Given the description of an element on the screen output the (x, y) to click on. 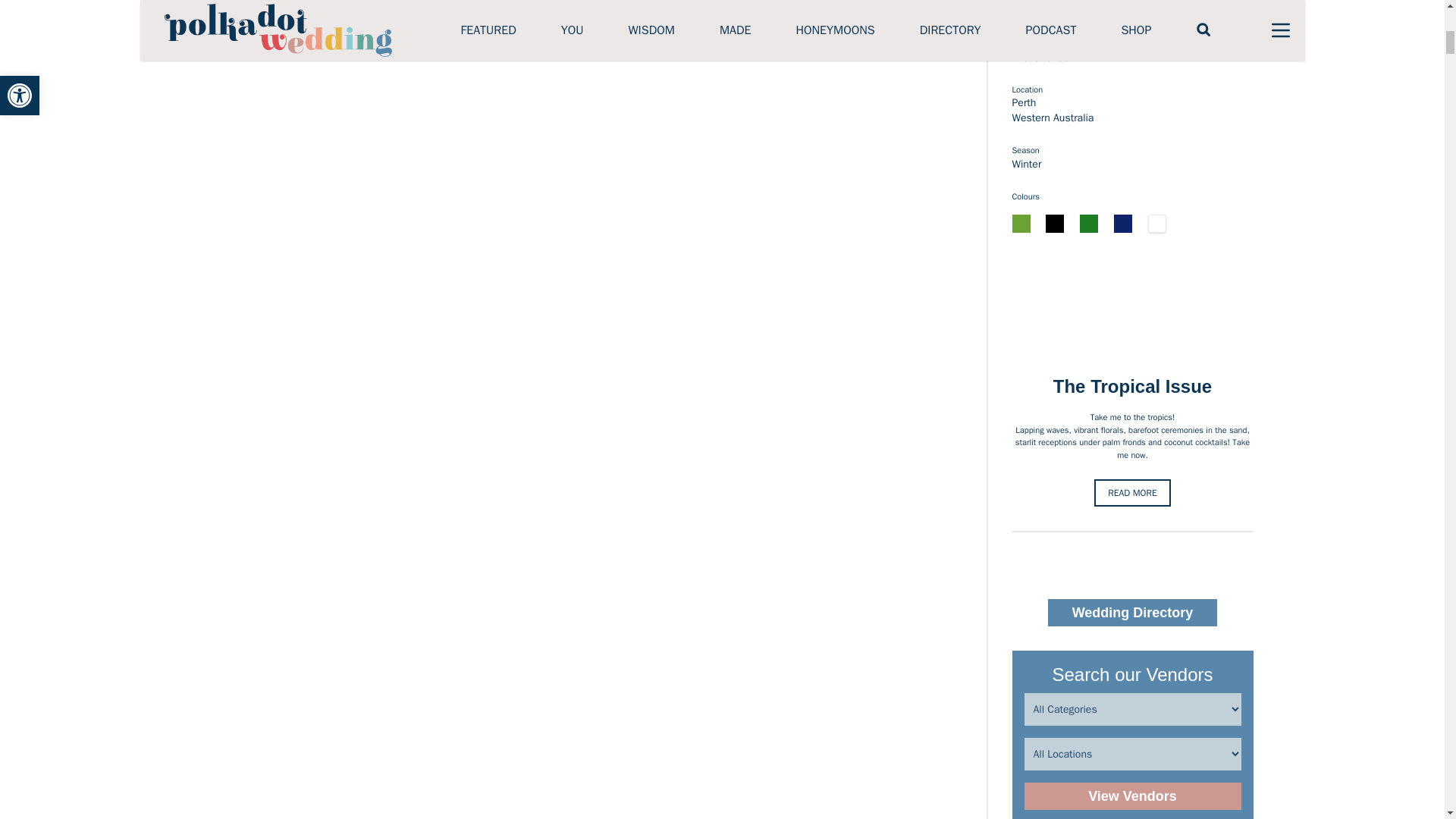
Emerald Green (1088, 223)
White (1157, 223)
Black (1054, 223)
Apple Green (1020, 223)
Midnight Blue (1122, 223)
